Given the description of an element on the screen output the (x, y) to click on. 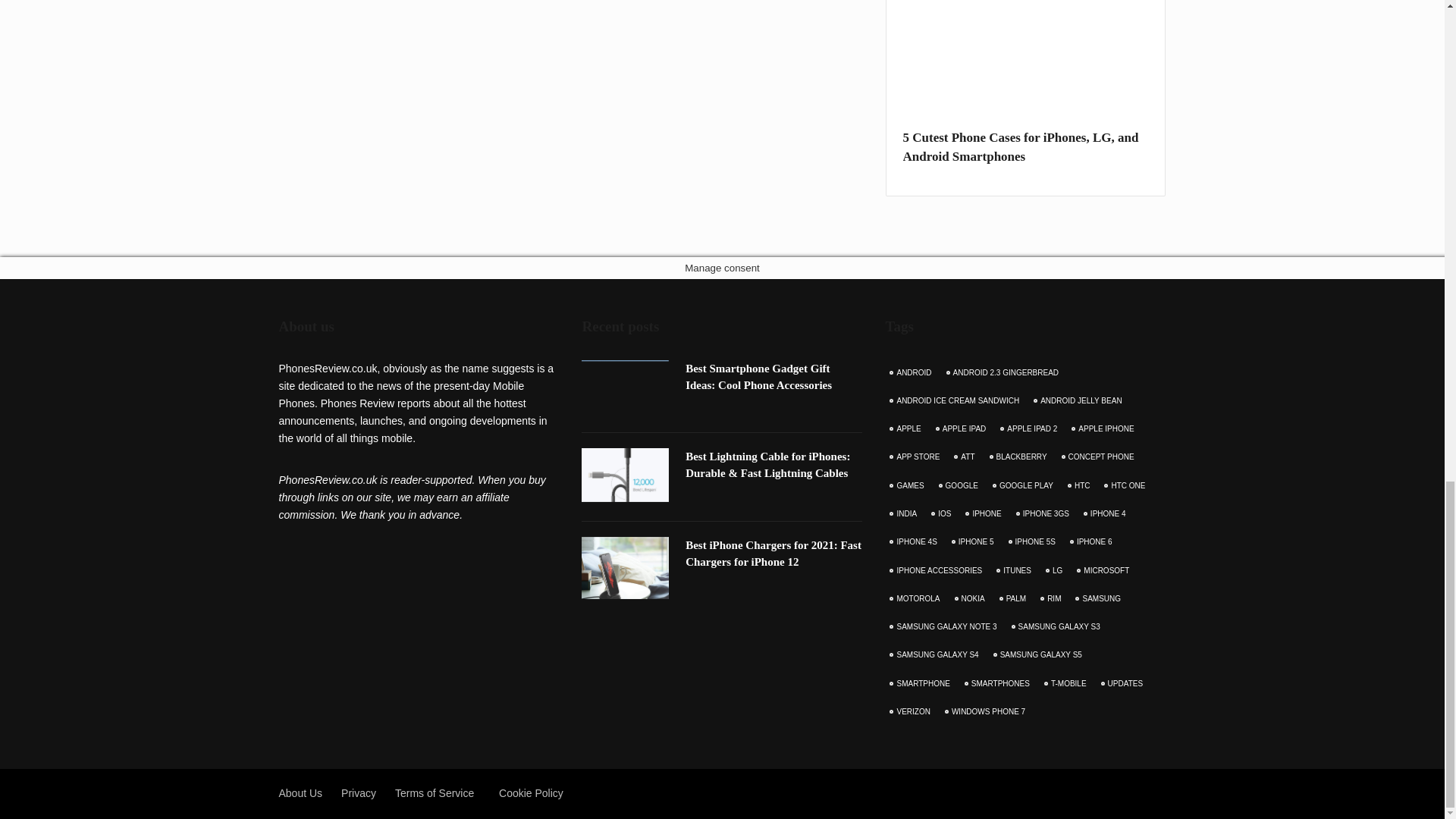
Best Smartphone Gadget Gift Ideas: Cool Phone Accessories (758, 376)
ANDROID ICE CREAM SANDWICH (955, 401)
Best iPhone Chargers for 2021: Fast Chargers for iPhone 12 (773, 553)
ANDROID (912, 372)
ANDROID 2.3 GINGERBREAD (1003, 372)
